Given the description of an element on the screen output the (x, y) to click on. 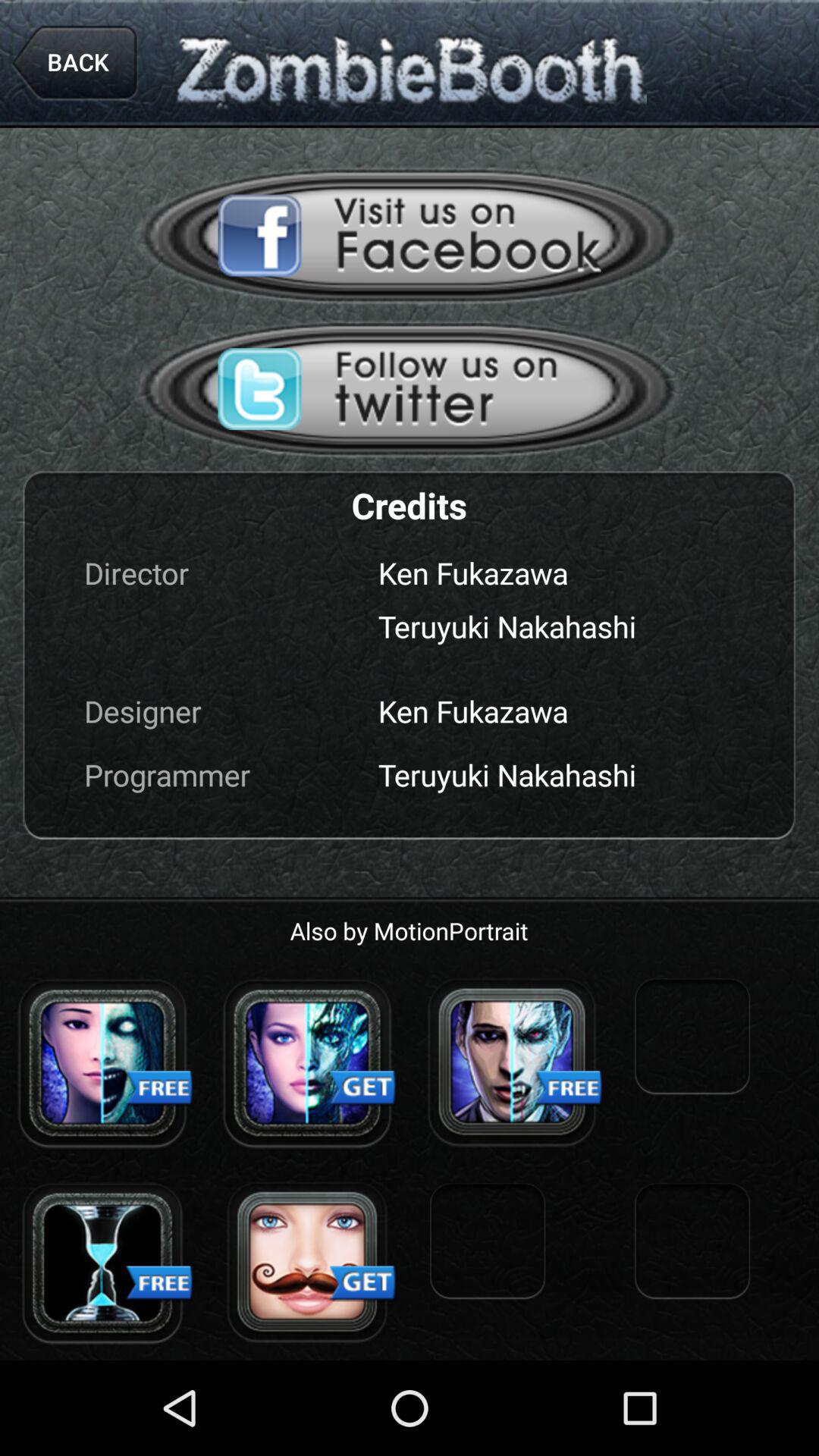
open zombiebooth facebook page (409, 235)
